Given the description of an element on the screen output the (x, y) to click on. 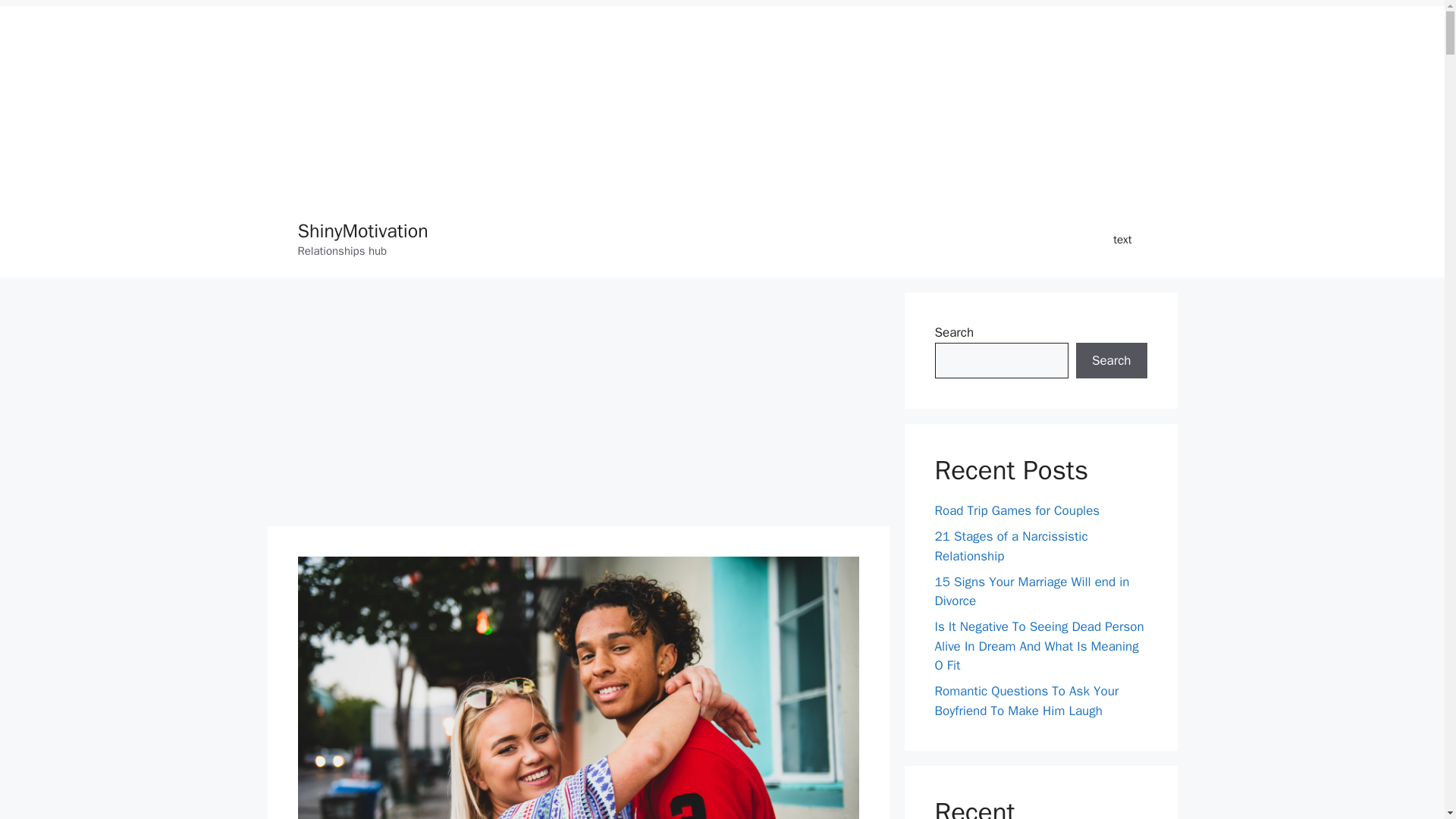
text (1122, 239)
Advertisement (576, 406)
ShinyMotivation (362, 230)
